Given the description of an element on the screen output the (x, y) to click on. 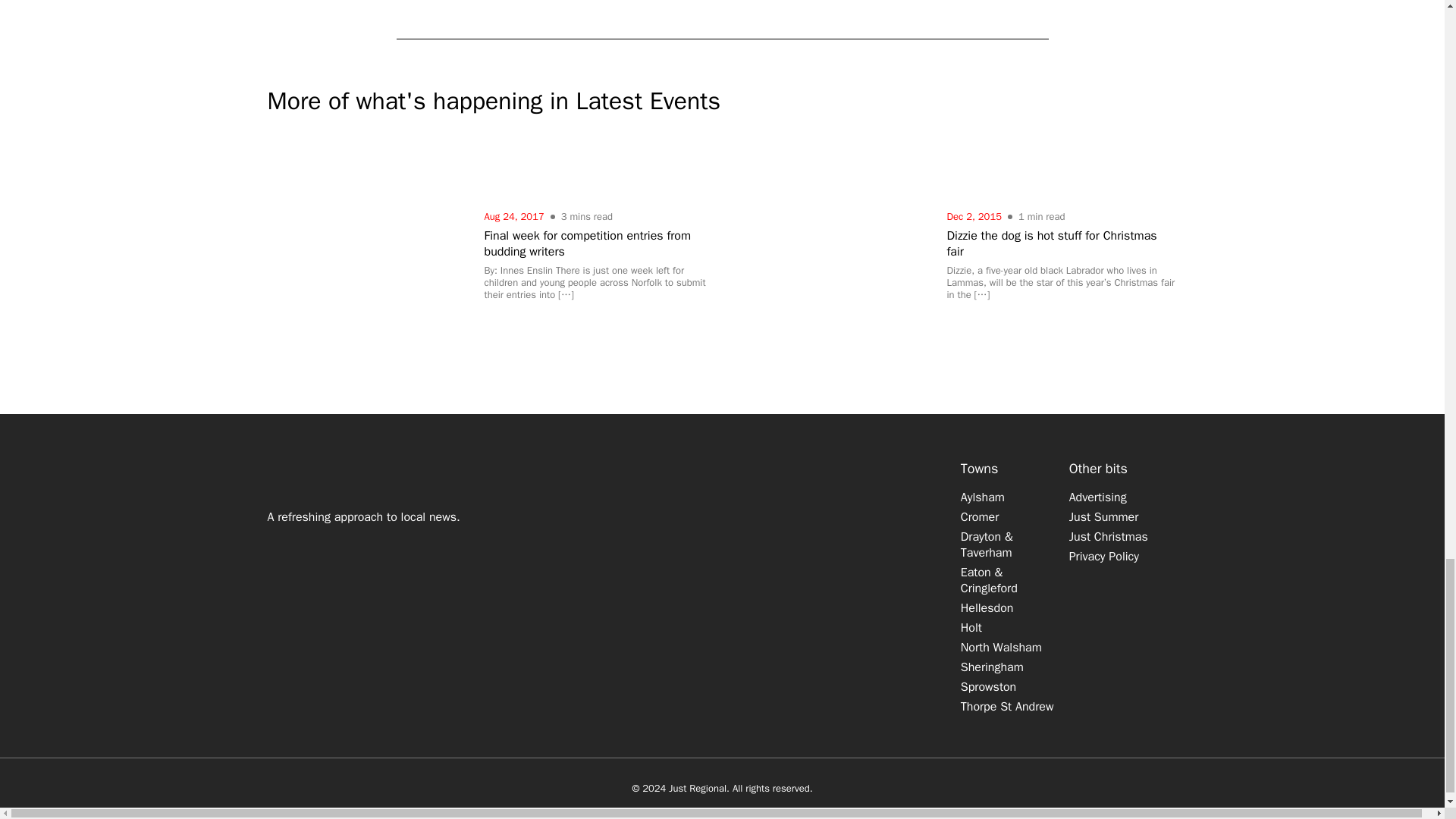
Hellesdon (986, 607)
Cromer (979, 516)
Aylsham (982, 497)
